Given the description of an element on the screen output the (x, y) to click on. 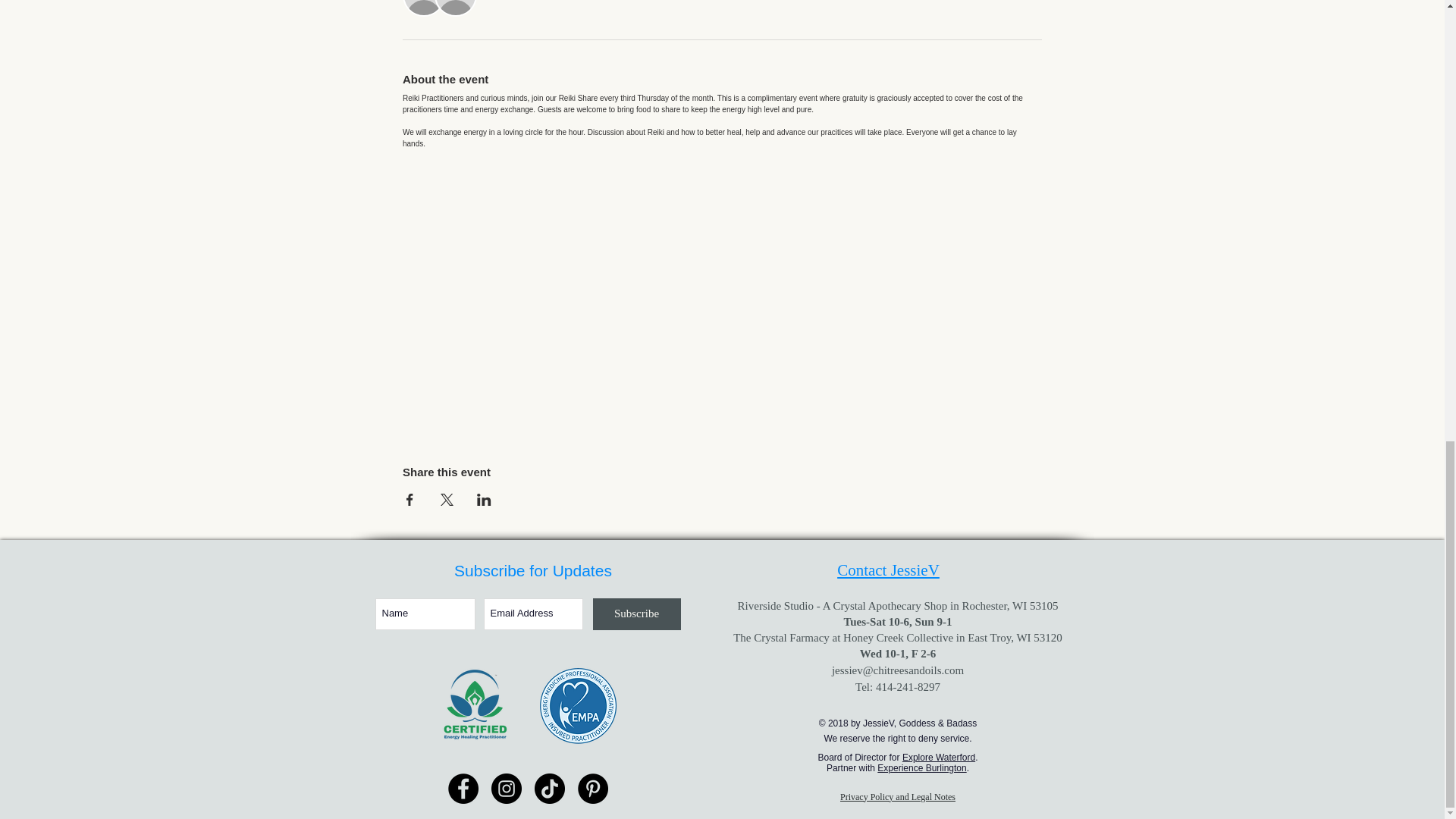
Privacy Policy and Legal Notes (897, 796)
Experience Burlington (921, 767)
Contact JessieV (888, 570)
Explore Waterford (938, 757)
Subscribe (636, 613)
See all (504, 2)
